Given the description of an element on the screen output the (x, y) to click on. 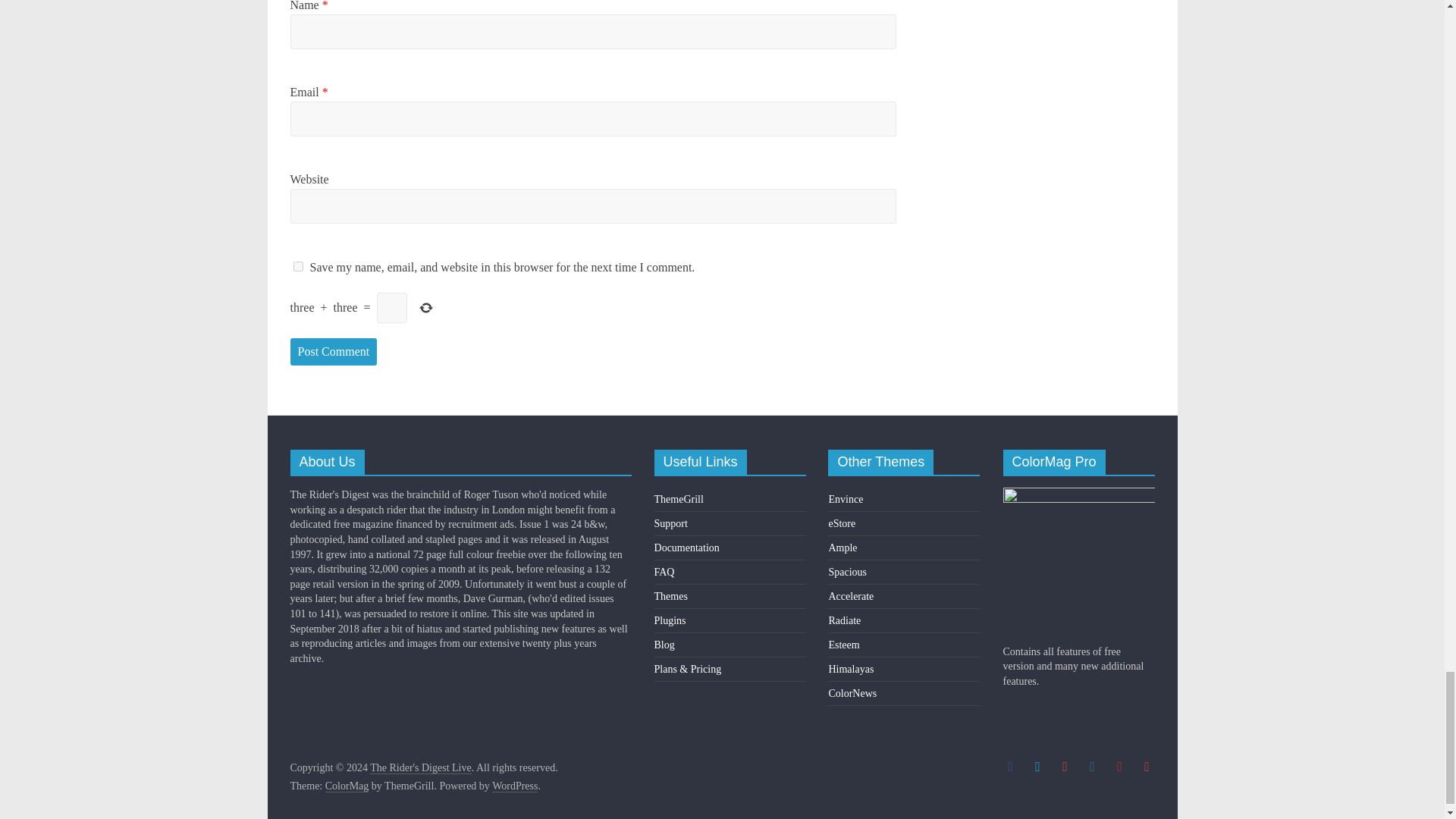
Post Comment (333, 351)
yes (297, 266)
